Given the description of an element on the screen output the (x, y) to click on. 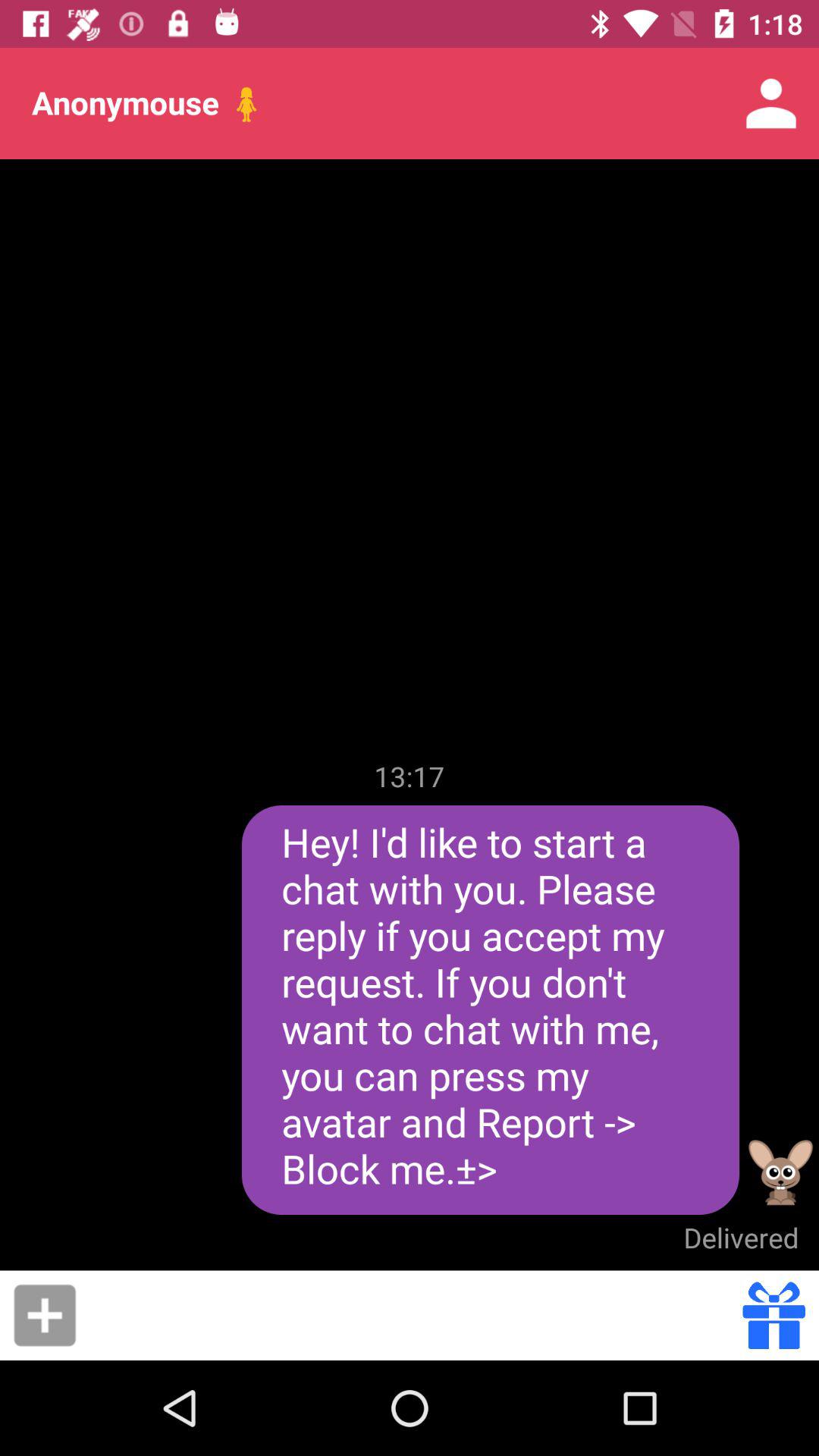
press the item above delivered item (780, 1172)
